Given the description of an element on the screen output the (x, y) to click on. 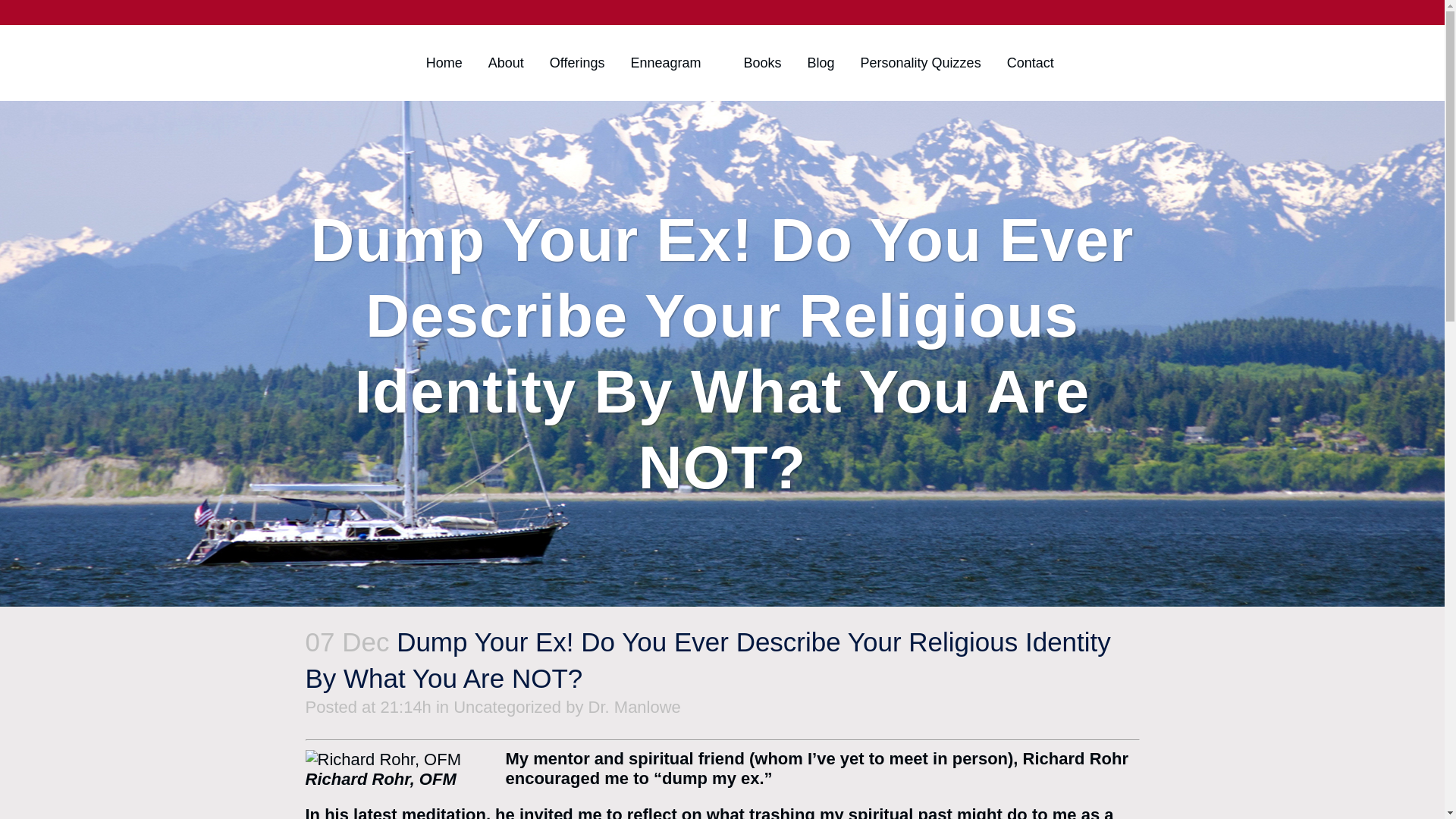
Richard Rohr (1075, 758)
Personality Quizzes (920, 62)
Dr. Manlowe (634, 706)
Contact (1030, 62)
Uncategorized (506, 706)
Enneagram (665, 62)
Offerings (577, 62)
meditation (443, 812)
